Given the description of an element on the screen output the (x, y) to click on. 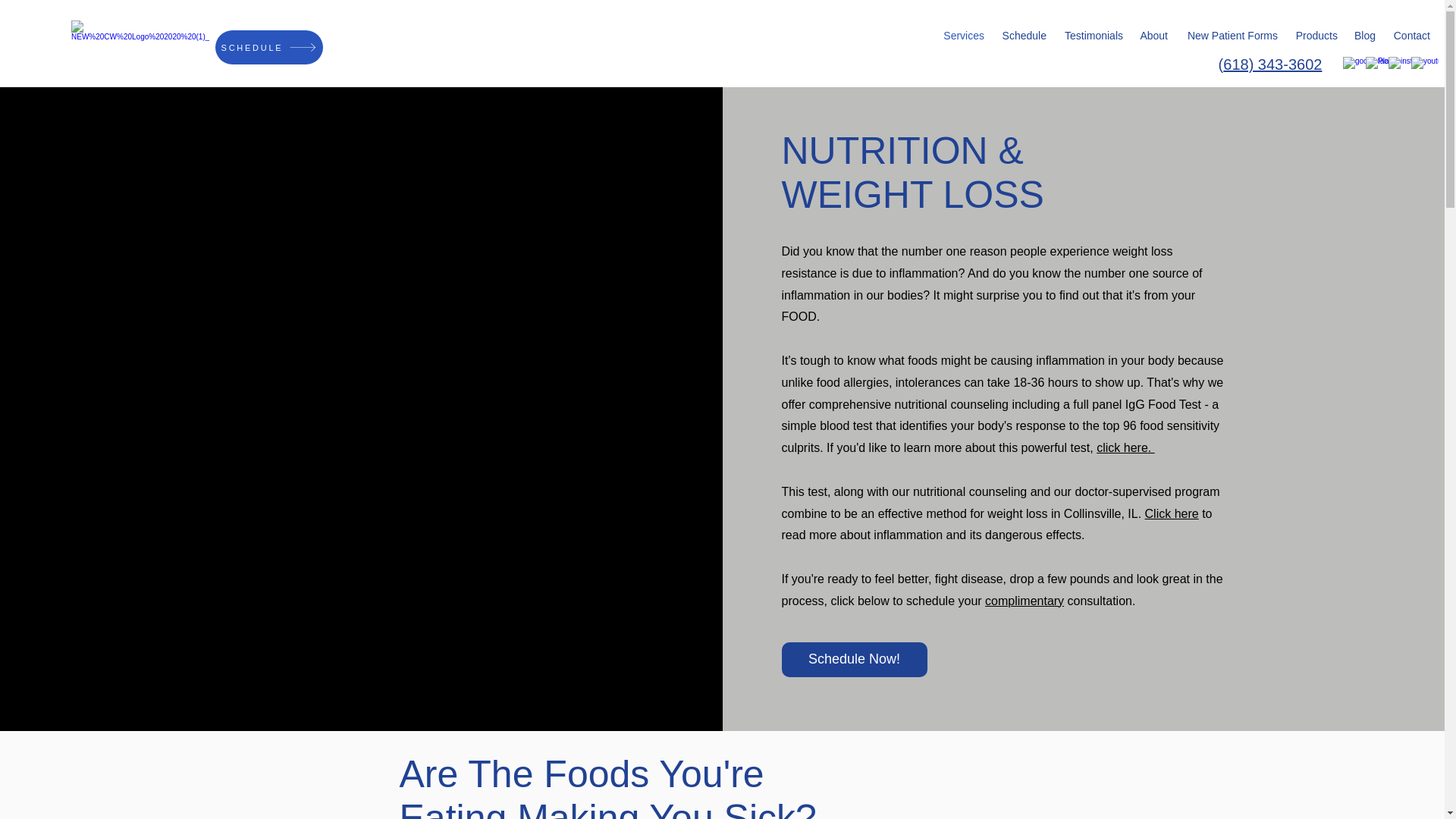
Schedule Now! (853, 659)
About (1152, 35)
click here.  (1125, 447)
Blog (1364, 35)
Click here (1171, 513)
Contact (1410, 35)
New Patient Forms (1229, 35)
Products (1315, 35)
Services (962, 35)
Schedule (1022, 35)
SCHEDULE (269, 47)
Testimonials (1092, 35)
